Given the description of an element on the screen output the (x, y) to click on. 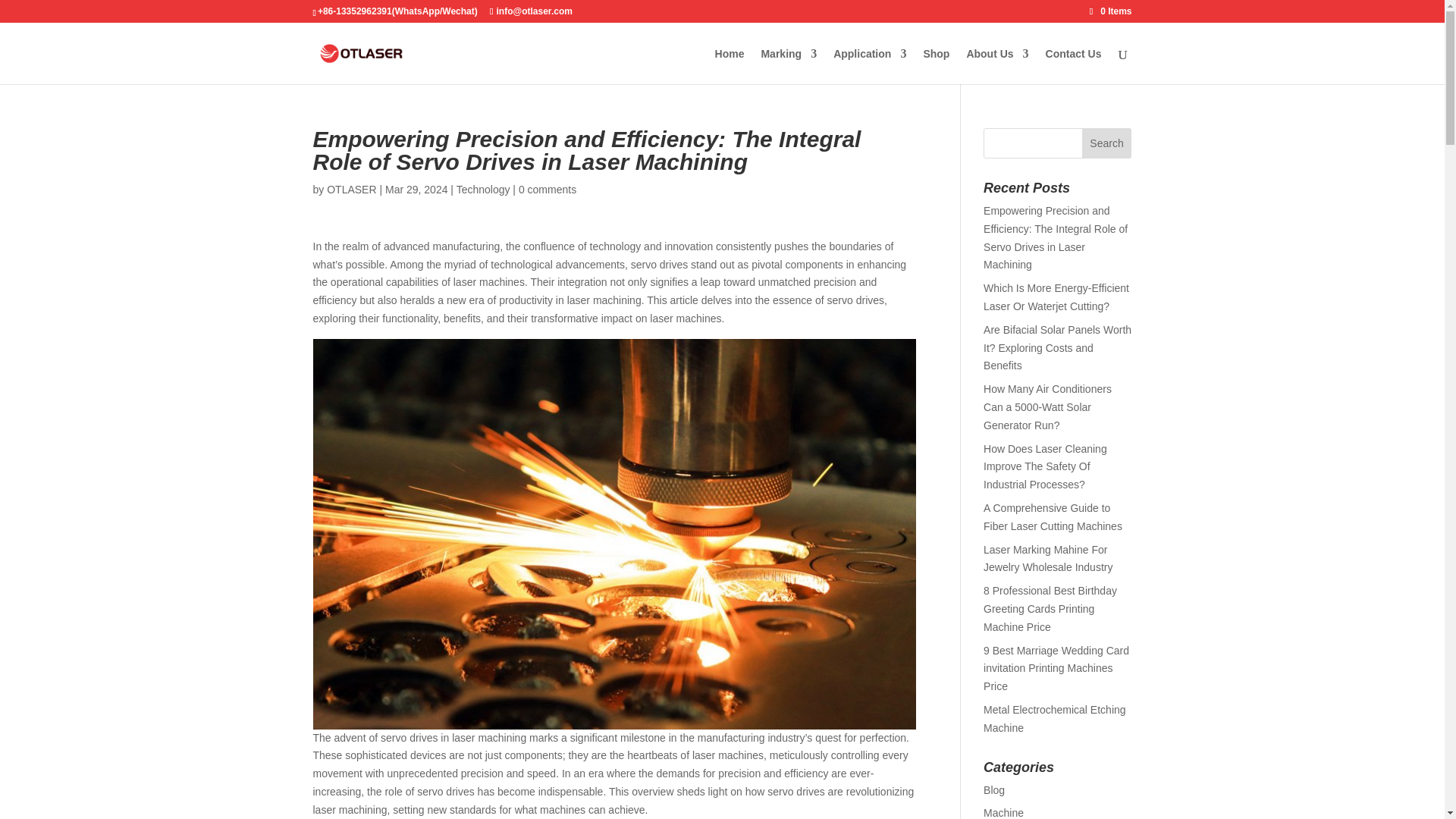
About Us (996, 66)
Posts by OTLASER (350, 189)
Marking (788, 66)
Application (868, 66)
0 Items (1110, 10)
Contact Us (1073, 66)
Search (1106, 142)
